Given the description of an element on the screen output the (x, y) to click on. 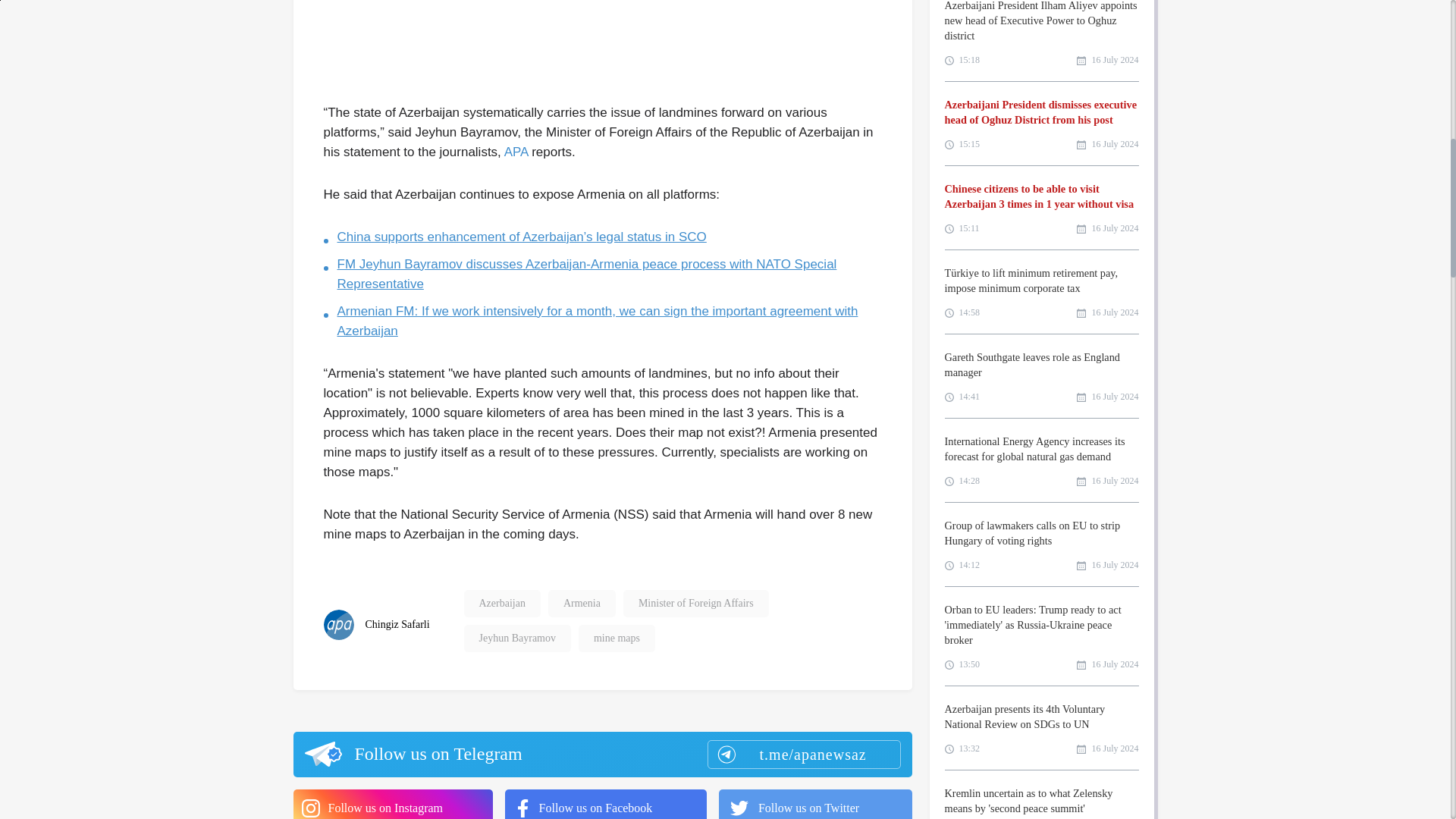
Follow us on Facebook (605, 804)
Follow us on Telegram (601, 754)
Follow us on Twitter (815, 804)
Follow us on Instagram (392, 804)
